Given the description of an element on the screen output the (x, y) to click on. 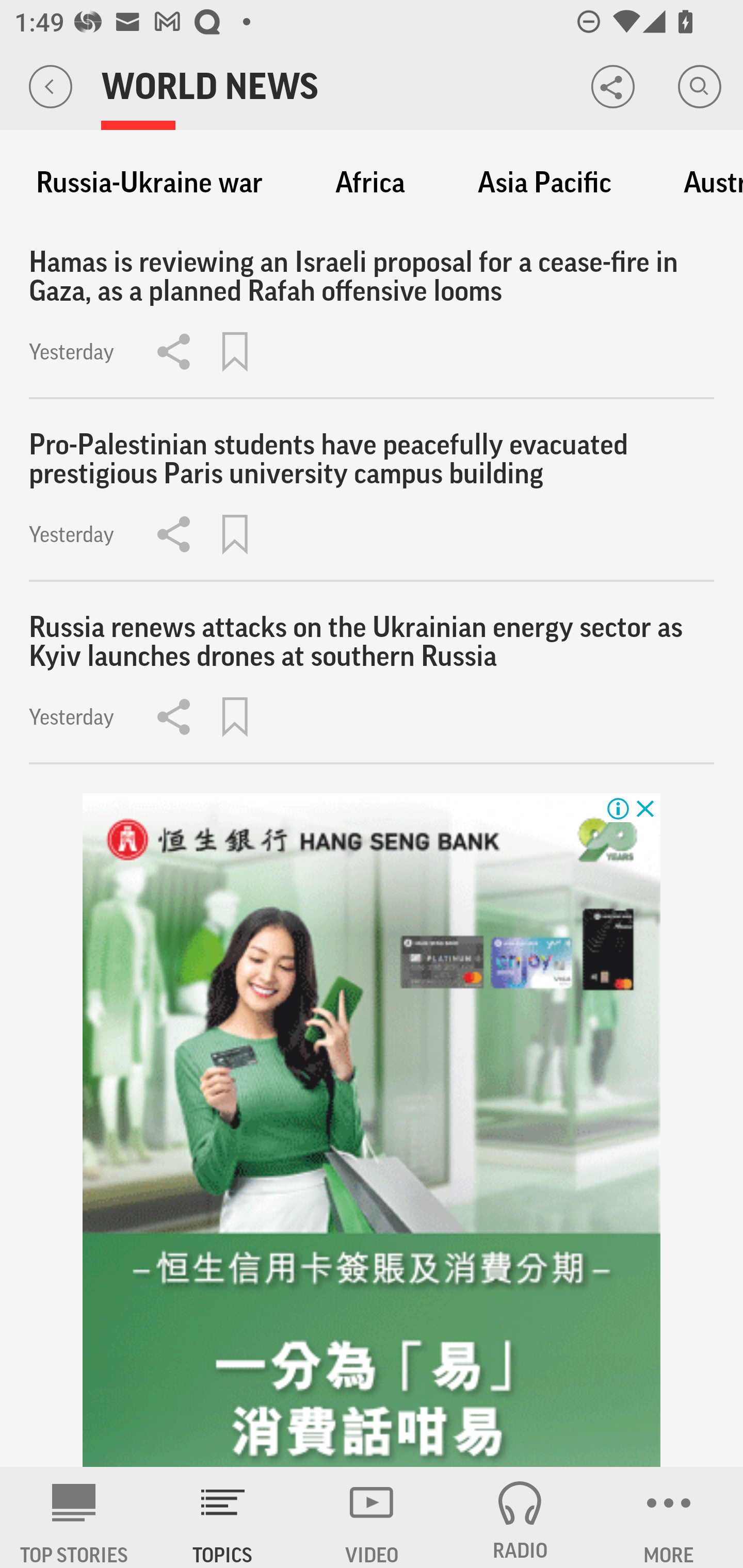
Russia-Ukraine war (148, 182)
Africa (370, 182)
Asia Pacific (544, 182)
Australia (704, 182)
Advertisement (371, 1130)
AP News TOP STORIES (74, 1517)
TOPICS (222, 1517)
VIDEO (371, 1517)
RADIO (519, 1517)
MORE (668, 1517)
